Given the description of an element on the screen output the (x, y) to click on. 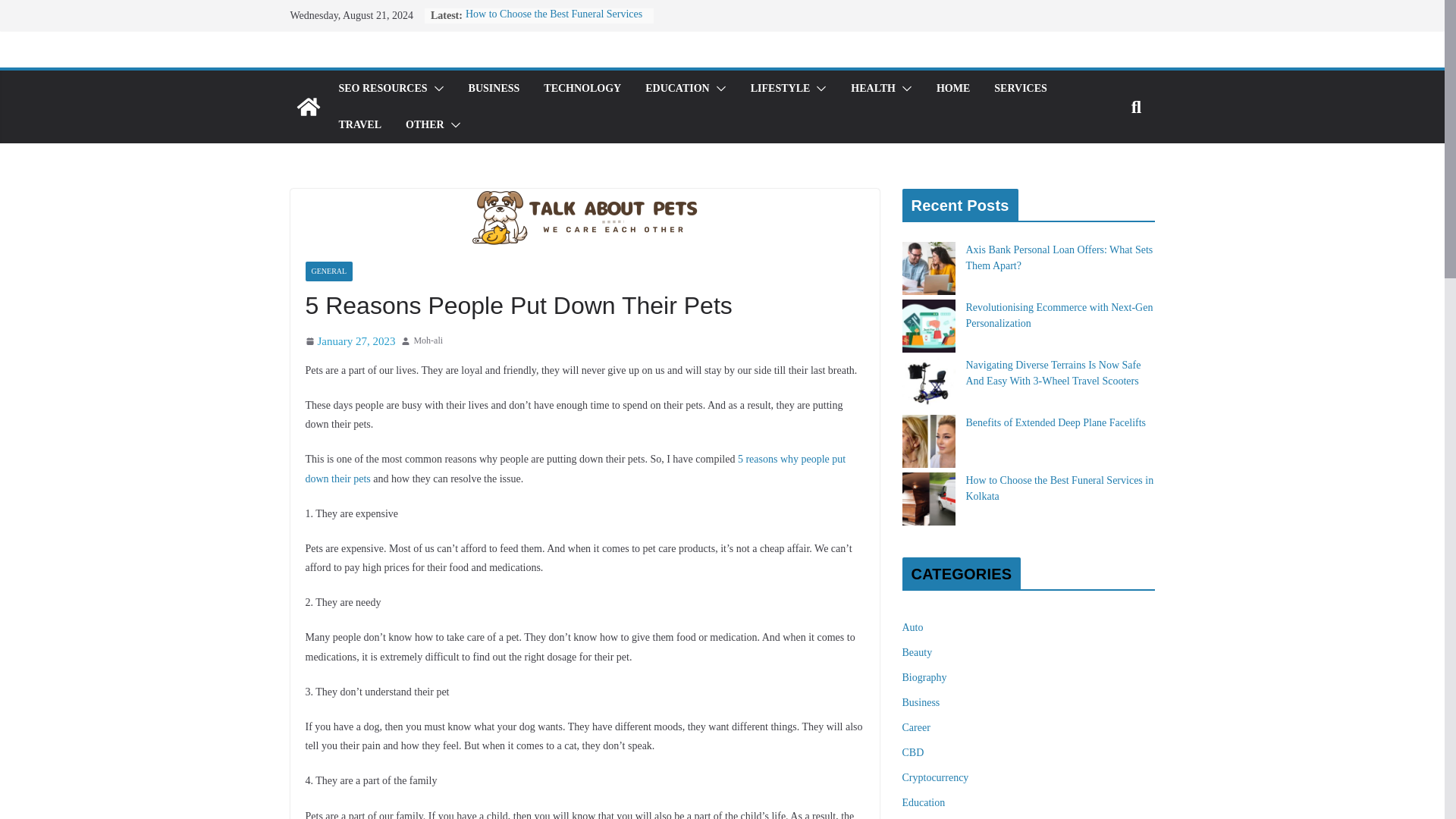
Axis Bank Personal Loan Offers: What Sets Them Apart? (1059, 257)
BUSINESS (493, 88)
How to Choose the Best Funeral Services in Kolkata (1060, 488)
Revolutionising Ecommerce with Next-Gen Personalization (1059, 315)
4:04 pm (349, 341)
SEO RESOURCES (381, 88)
Beauty (917, 652)
How to Choose the Best Funeral Services in Kolkata (553, 21)
Benefits of Extended Deep Plane Facelifts (1056, 422)
